Given the description of an element on the screen output the (x, y) to click on. 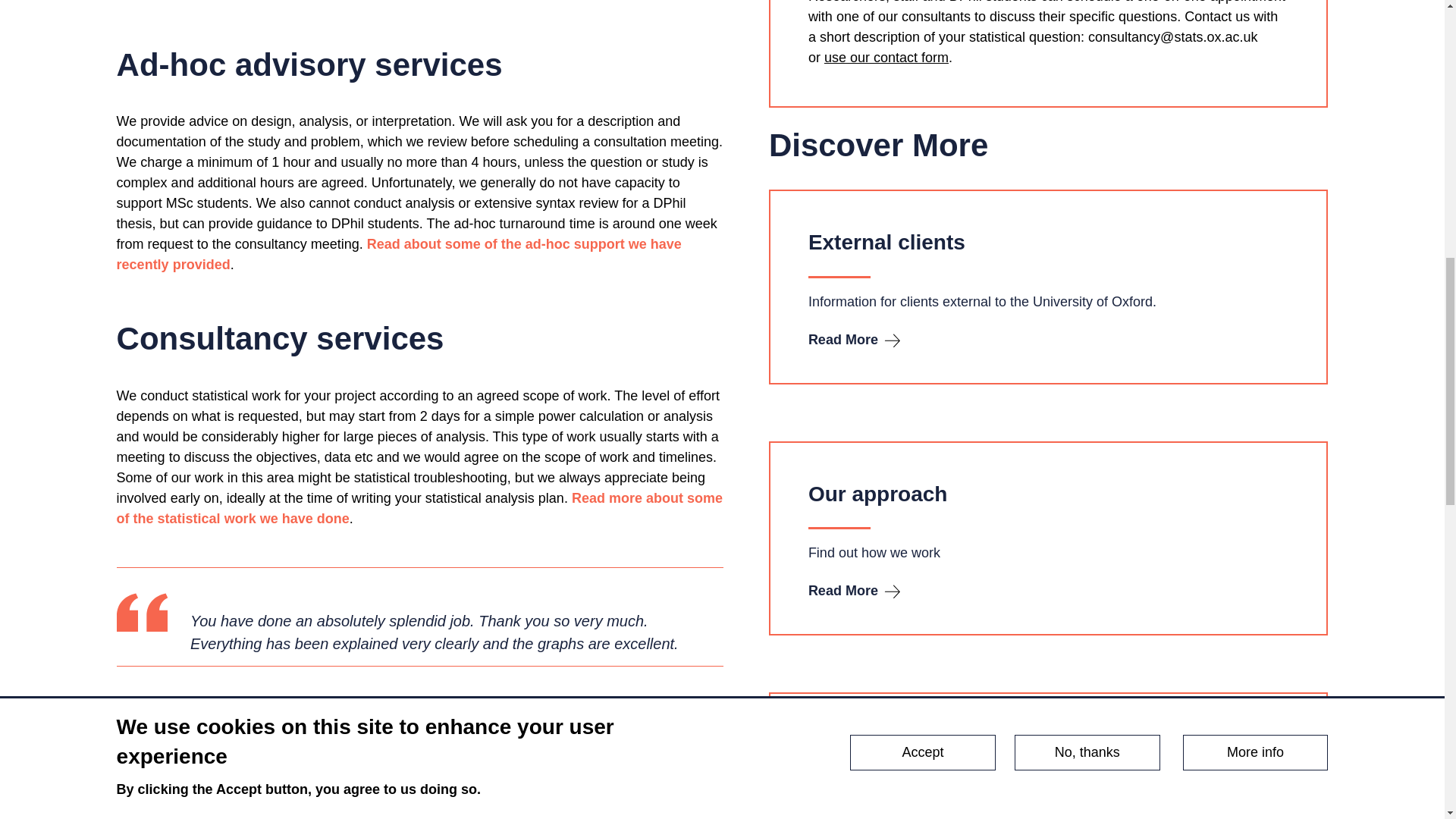
use our contact form (886, 57)
Read more about some of the statistical work we have done (419, 508)
